Given the description of an element on the screen output the (x, y) to click on. 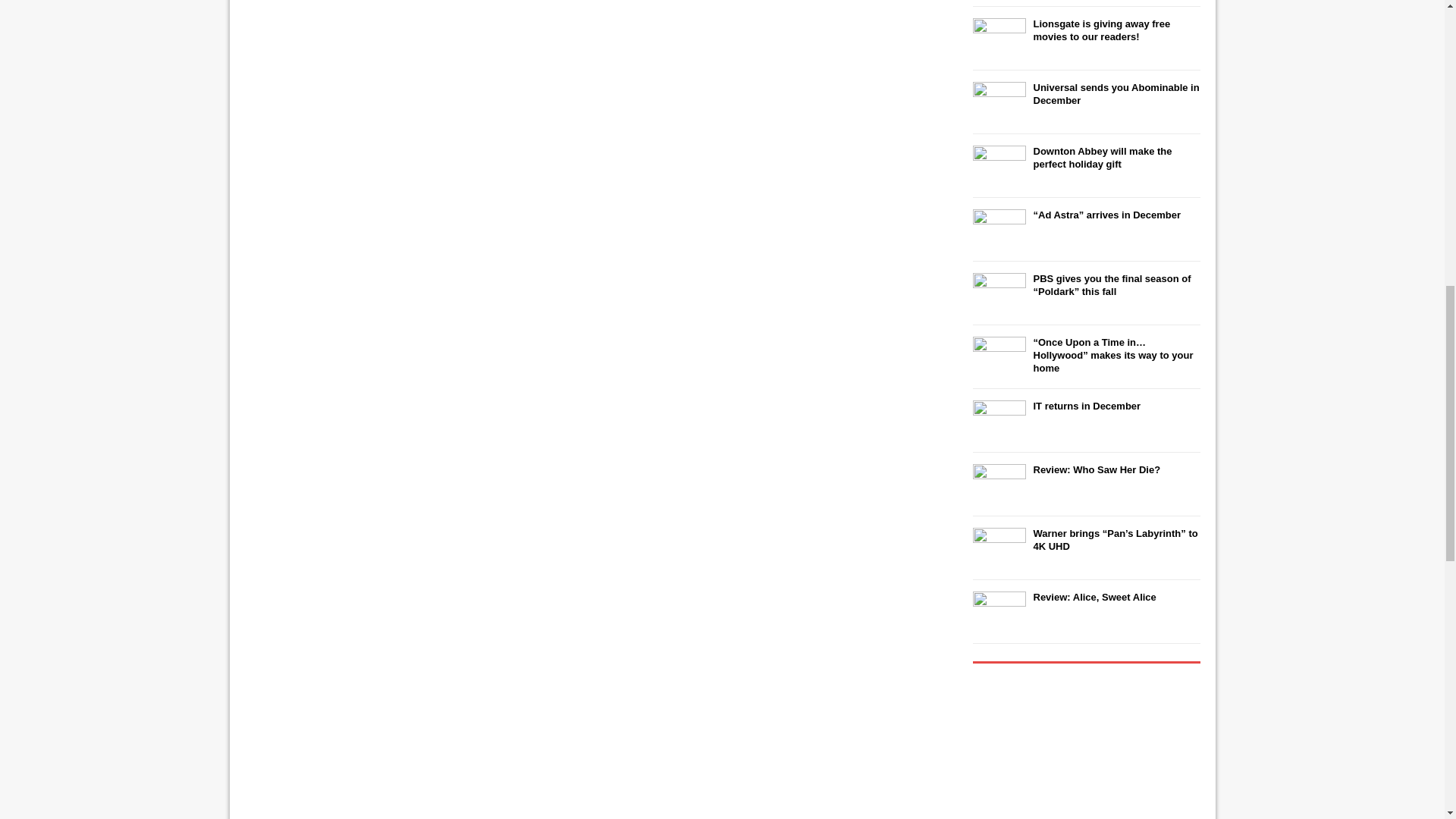
Universal sends you Abominable in December (1115, 93)
Downton Abbey will make the perfect holiday gift (1102, 157)
Lionsgate is giving away free movies to our readers! (1101, 30)
